Given the description of an element on the screen output the (x, y) to click on. 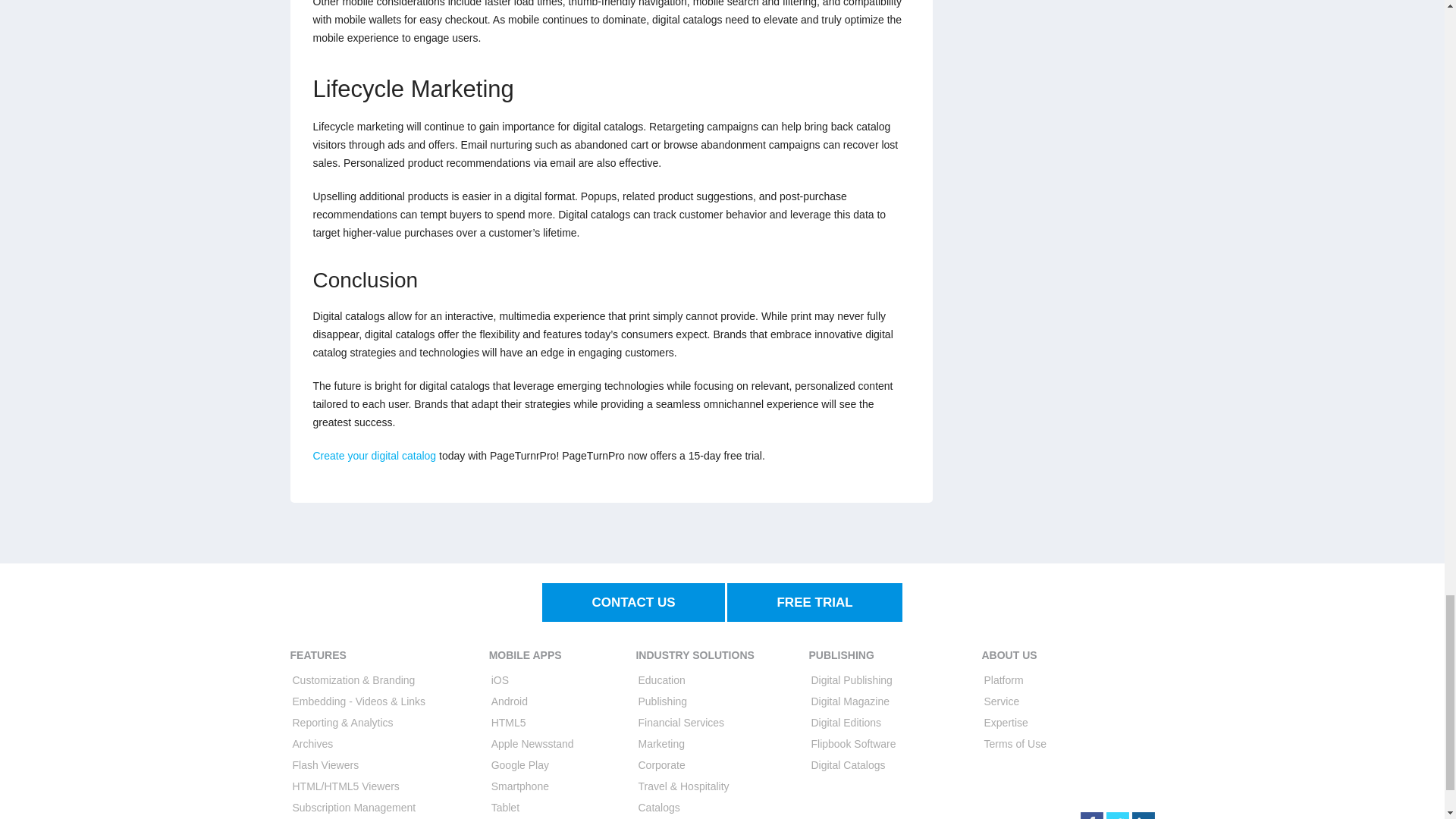
Flash Viewers (325, 765)
HTML5 (508, 722)
Android (509, 701)
iOS (500, 680)
Google Play (520, 765)
Apple Newsstand (532, 743)
FREE TRIAL (813, 602)
Create your digital catalog (374, 455)
Subscription Management (354, 807)
Archives (312, 743)
